Given the description of an element on the screen output the (x, y) to click on. 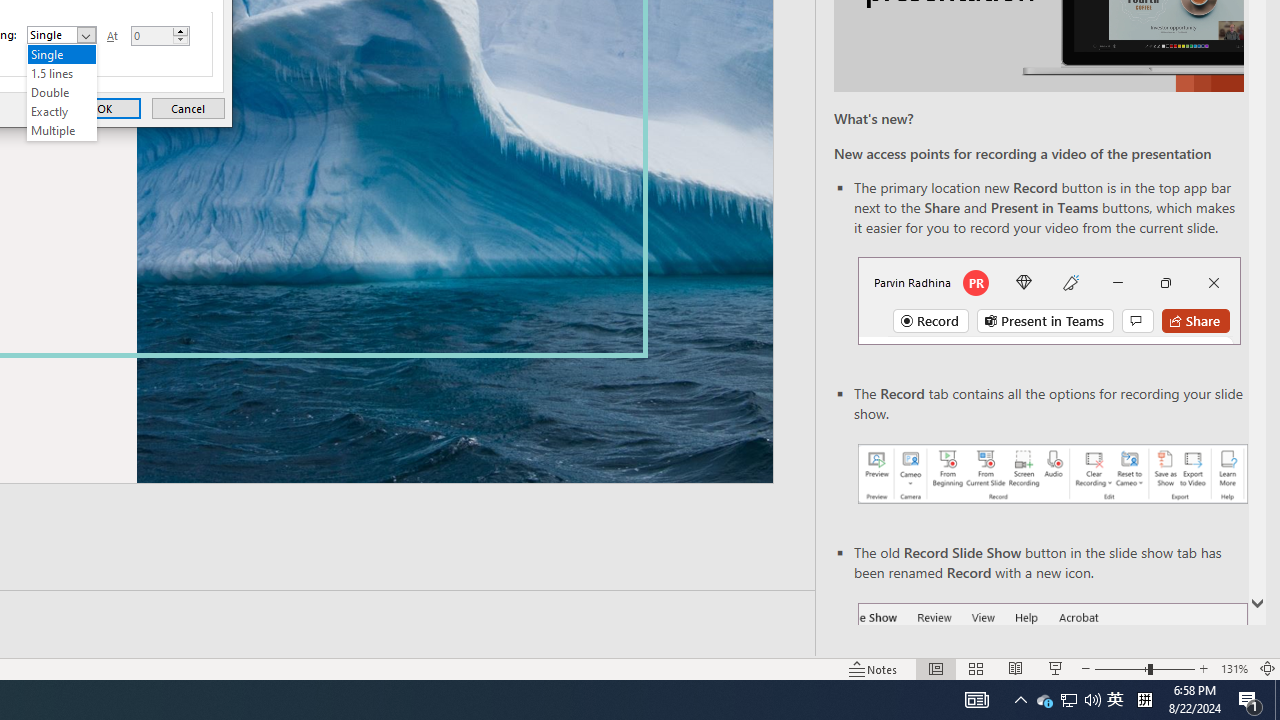
At (151, 35)
At (159, 35)
